Given the description of an element on the screen output the (x, y) to click on. 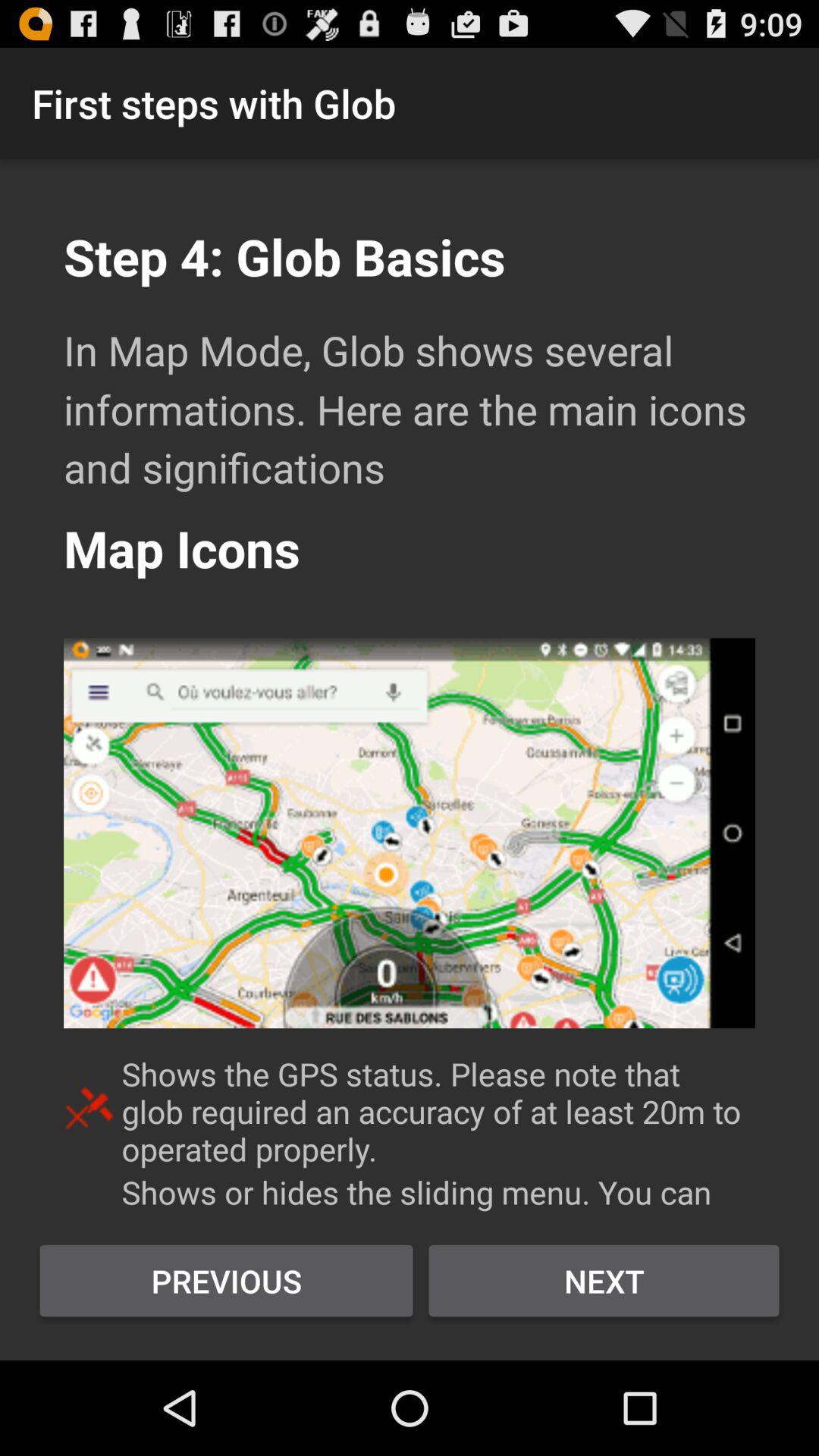
click next icon (603, 1280)
